Given the description of an element on the screen output the (x, y) to click on. 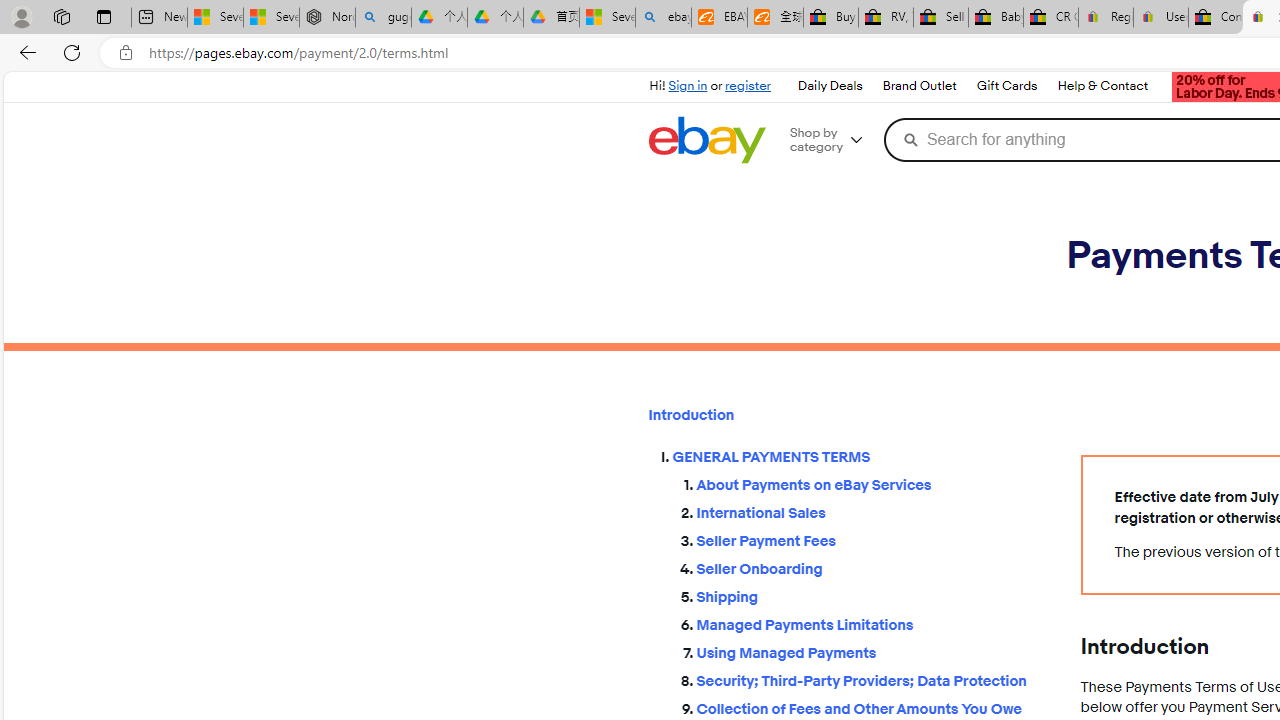
guge yunpan - Search (382, 17)
User Privacy Notice | eBay (1160, 17)
GENERAL PAYMENTS TERMS (860, 457)
Introduction (848, 415)
Using Managed Payments (872, 652)
Help & Contact (1103, 86)
ebay - Search (663, 17)
Daily Deals (829, 86)
Managed Payments Limitations (872, 624)
